Given the description of an element on the screen output the (x, y) to click on. 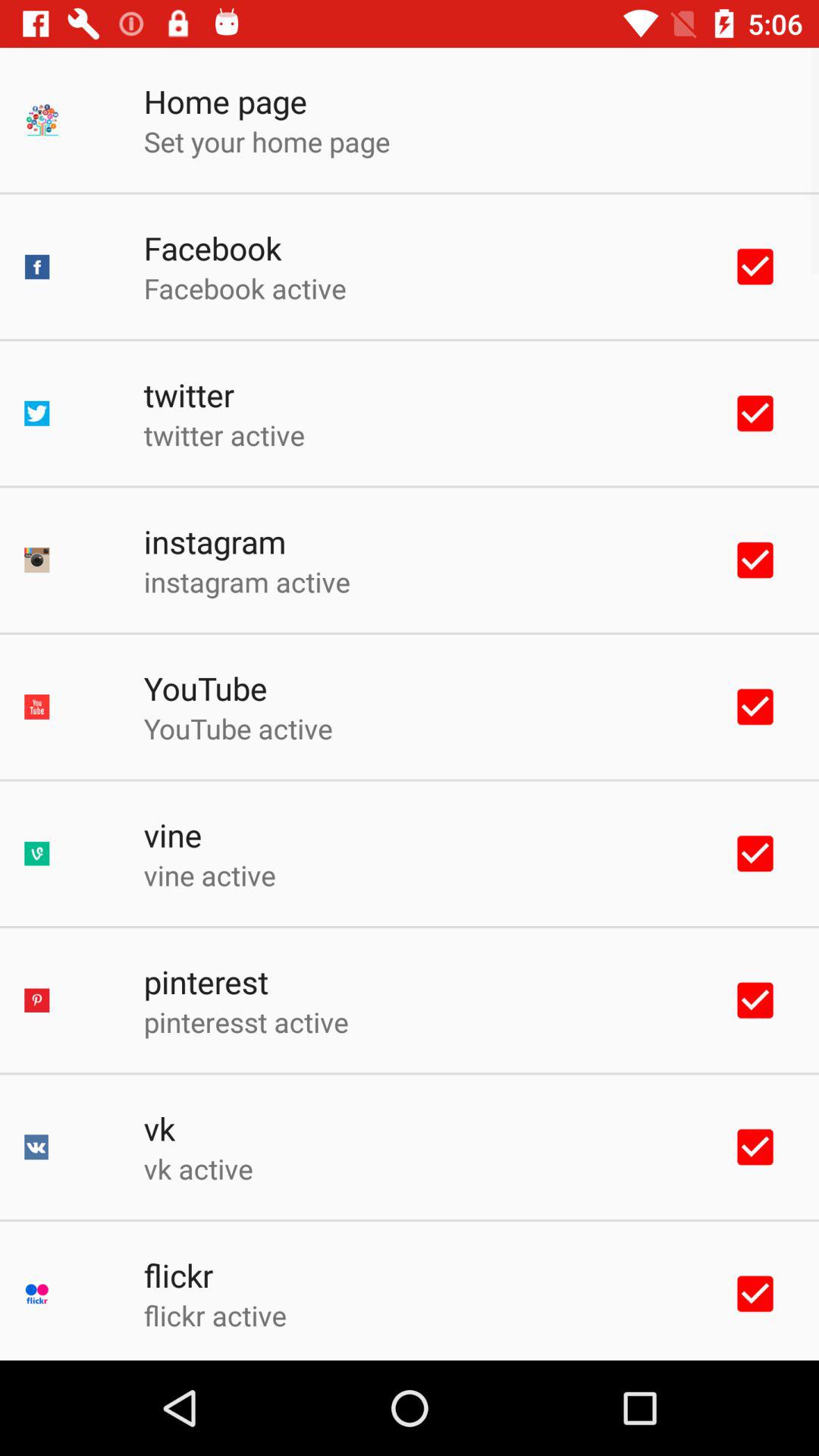
scroll until instagram active (246, 581)
